Given the description of an element on the screen output the (x, y) to click on. 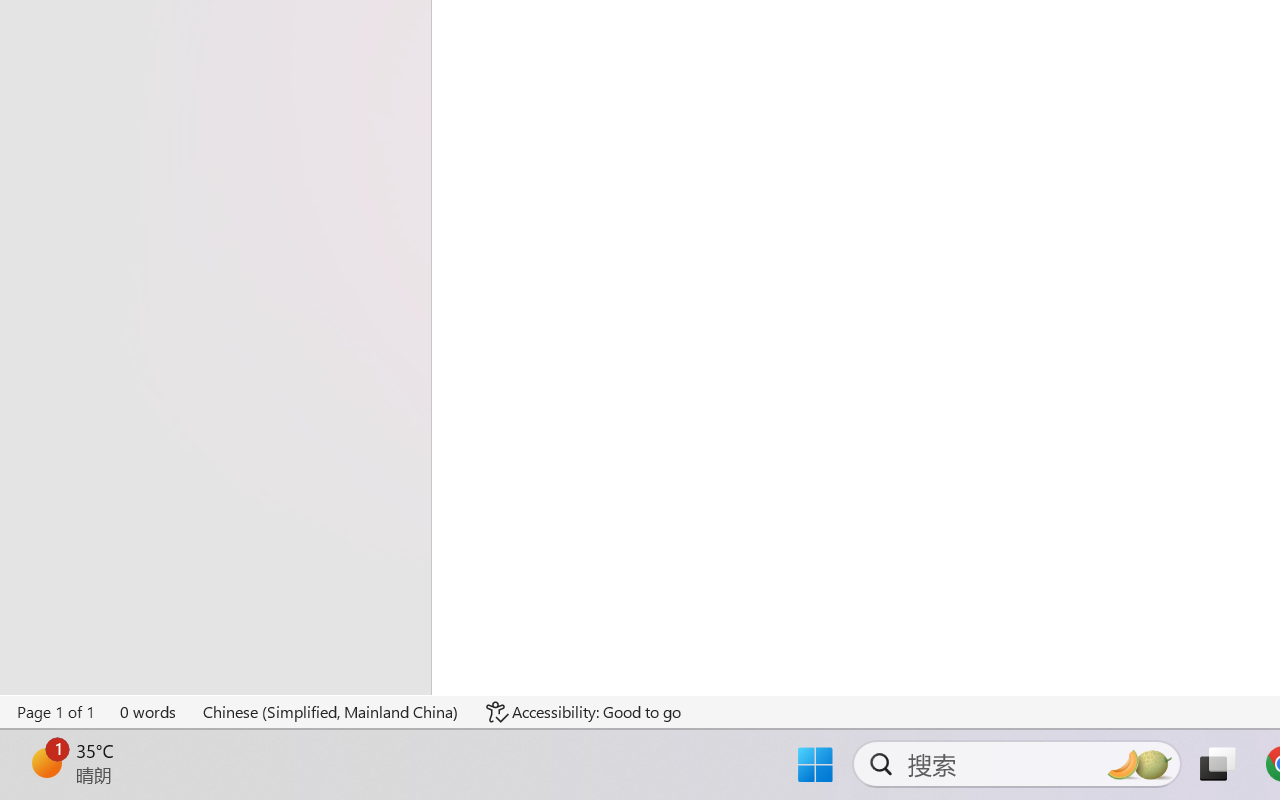
Language Chinese (Simplified, Mainland China) (331, 712)
